Given the description of an element on the screen output the (x, y) to click on. 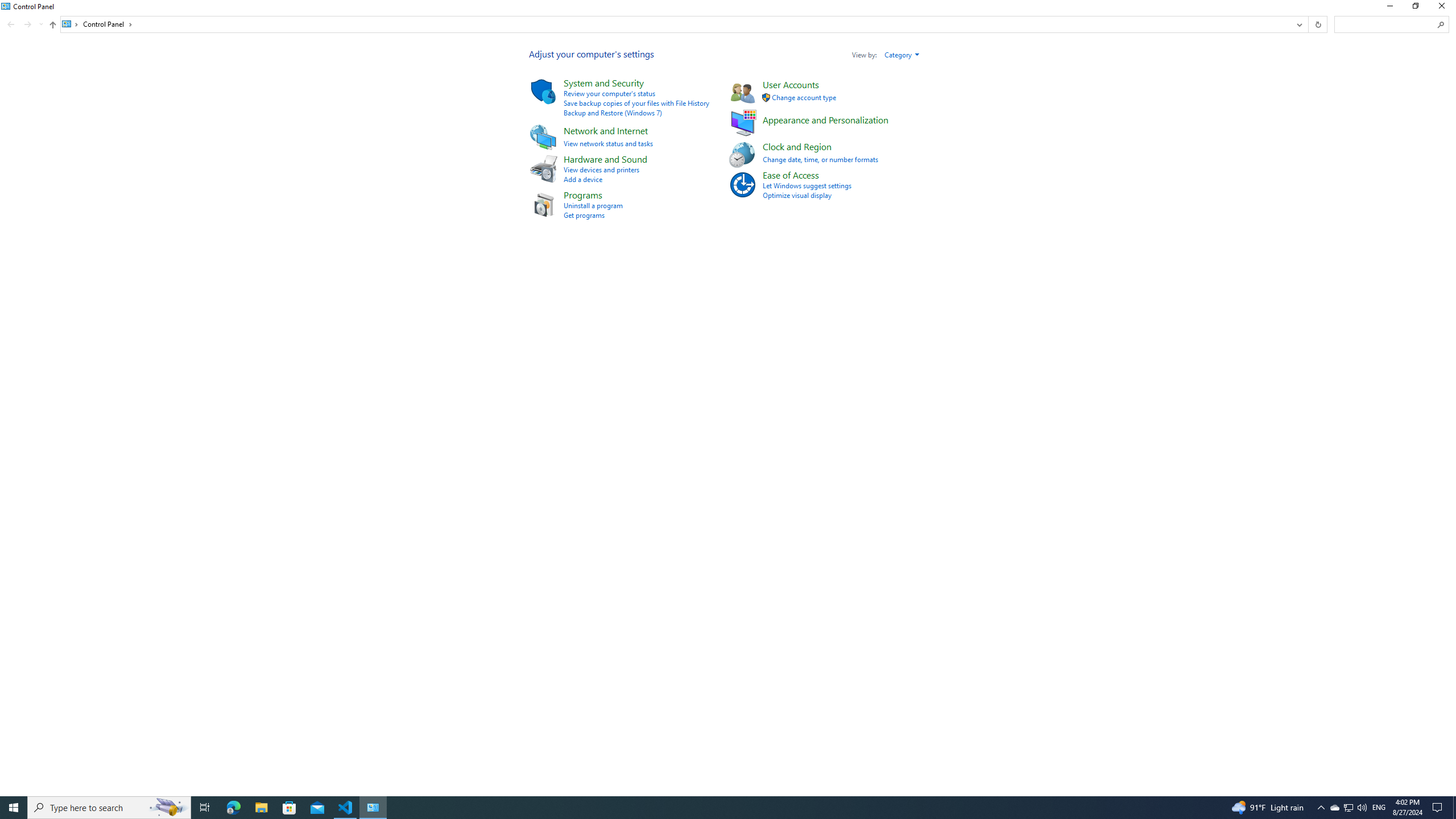
View network status and tasks (607, 143)
All locations (70, 23)
